Given the description of an element on the screen output the (x, y) to click on. 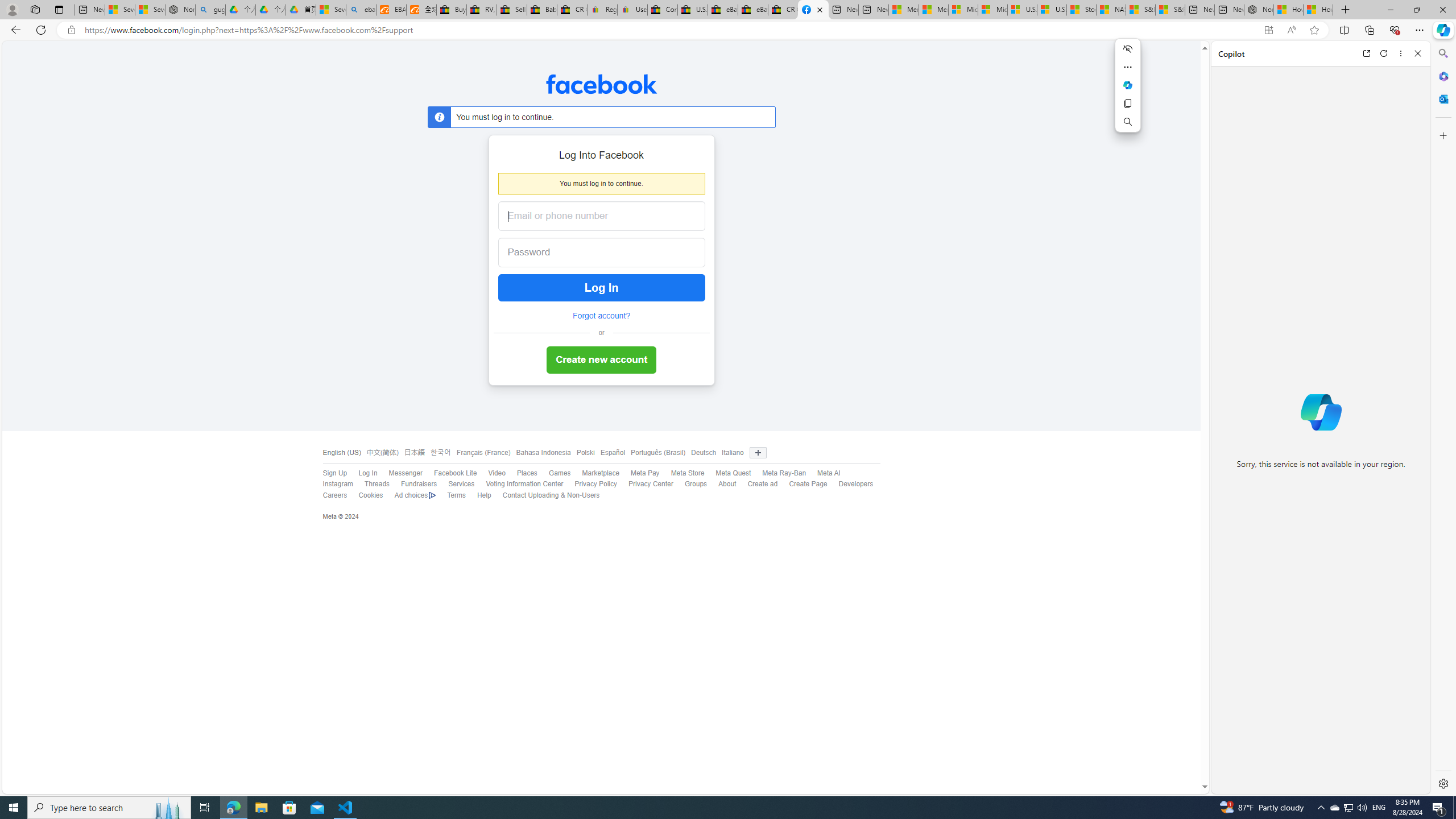
Deutsch (703, 452)
More actions (1127, 67)
Meta Pay (644, 473)
Register: Create a personal eBay account (601, 9)
Places (521, 473)
Careers (334, 494)
Cookies (370, 494)
Instagram (337, 483)
U.S. State Privacy Disclosures - eBay Inc. (691, 9)
Polski (585, 452)
Ad choices (415, 495)
